Given the description of an element on the screen output the (x, y) to click on. 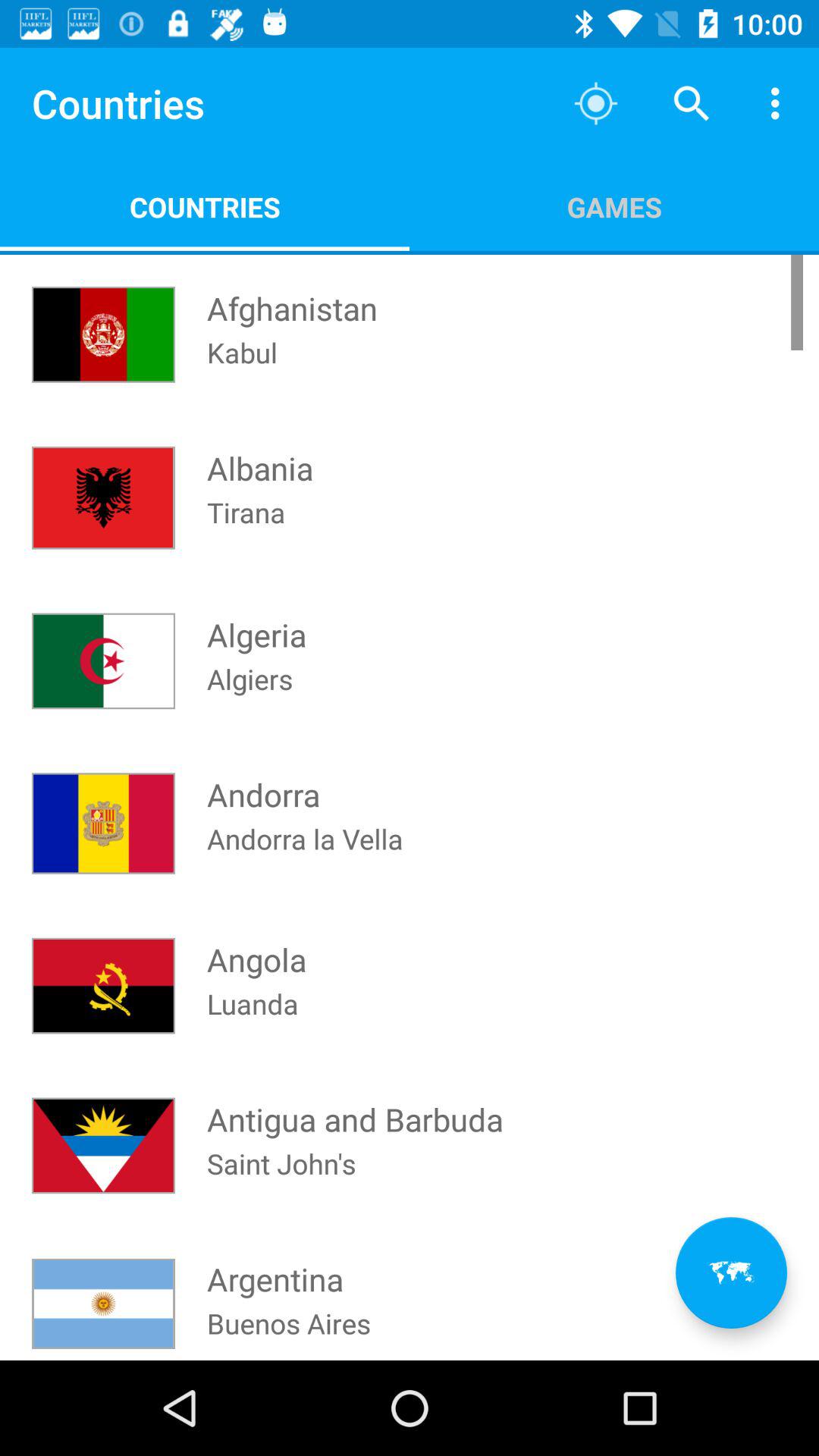
click the search button on the web page (691, 103)
